Given the description of an element on the screen output the (x, y) to click on. 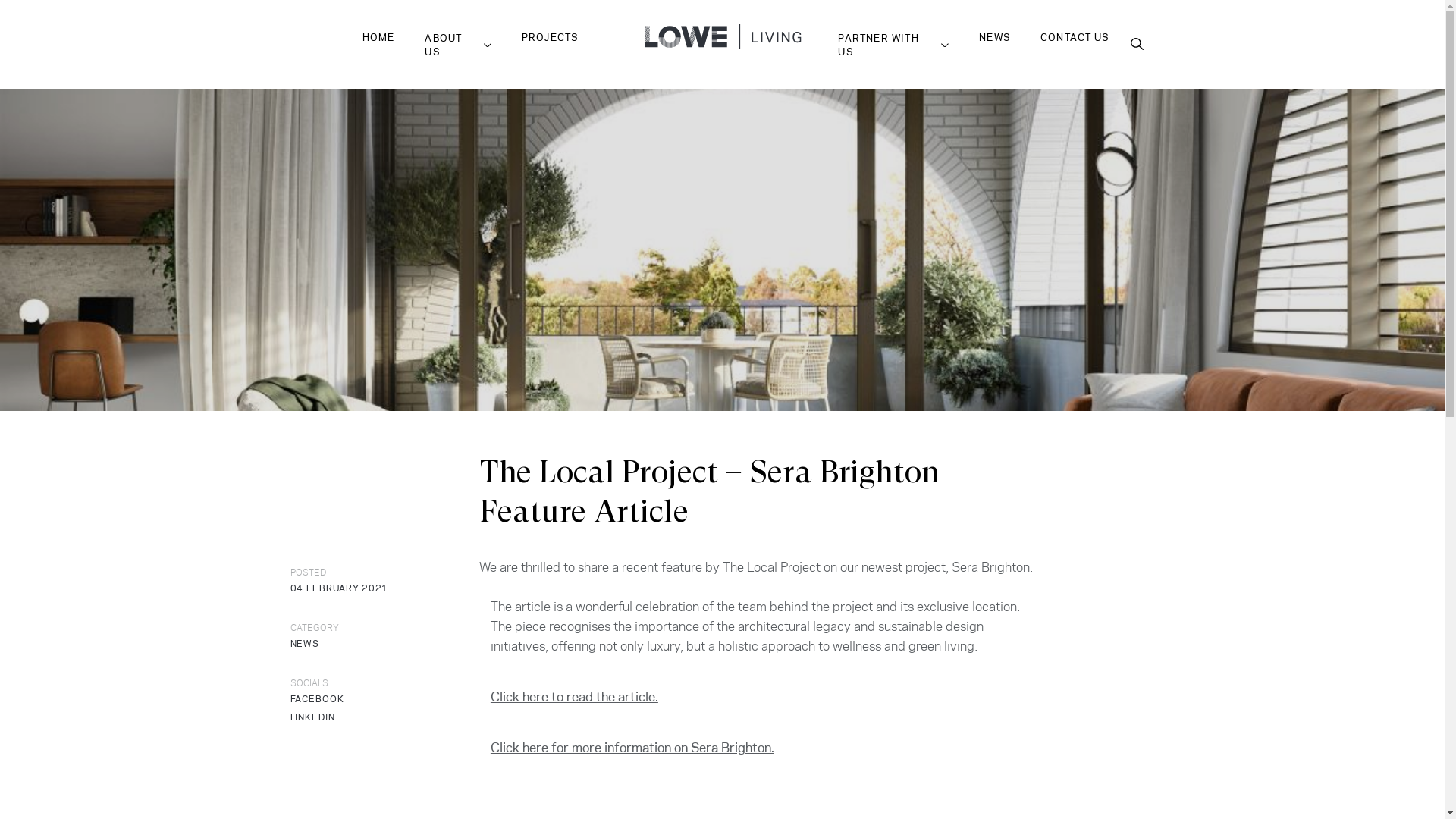
PROJECTS Element type: text (550, 36)
FACEBOOK Element type: text (316, 698)
HOME Element type: text (378, 36)
ABOUT US Element type: text (457, 43)
PARTNER WITH US Element type: text (893, 43)
LINKEDIN Element type: text (311, 716)
Click here to read the article. Element type: text (574, 696)
NEWS Element type: text (994, 36)
CONTACT US Element type: text (1074, 36)
Skip to content Element type: text (0, 0)
Click here for more information on Sera Brighton. Element type: text (632, 747)
